Given the description of an element on the screen output the (x, y) to click on. 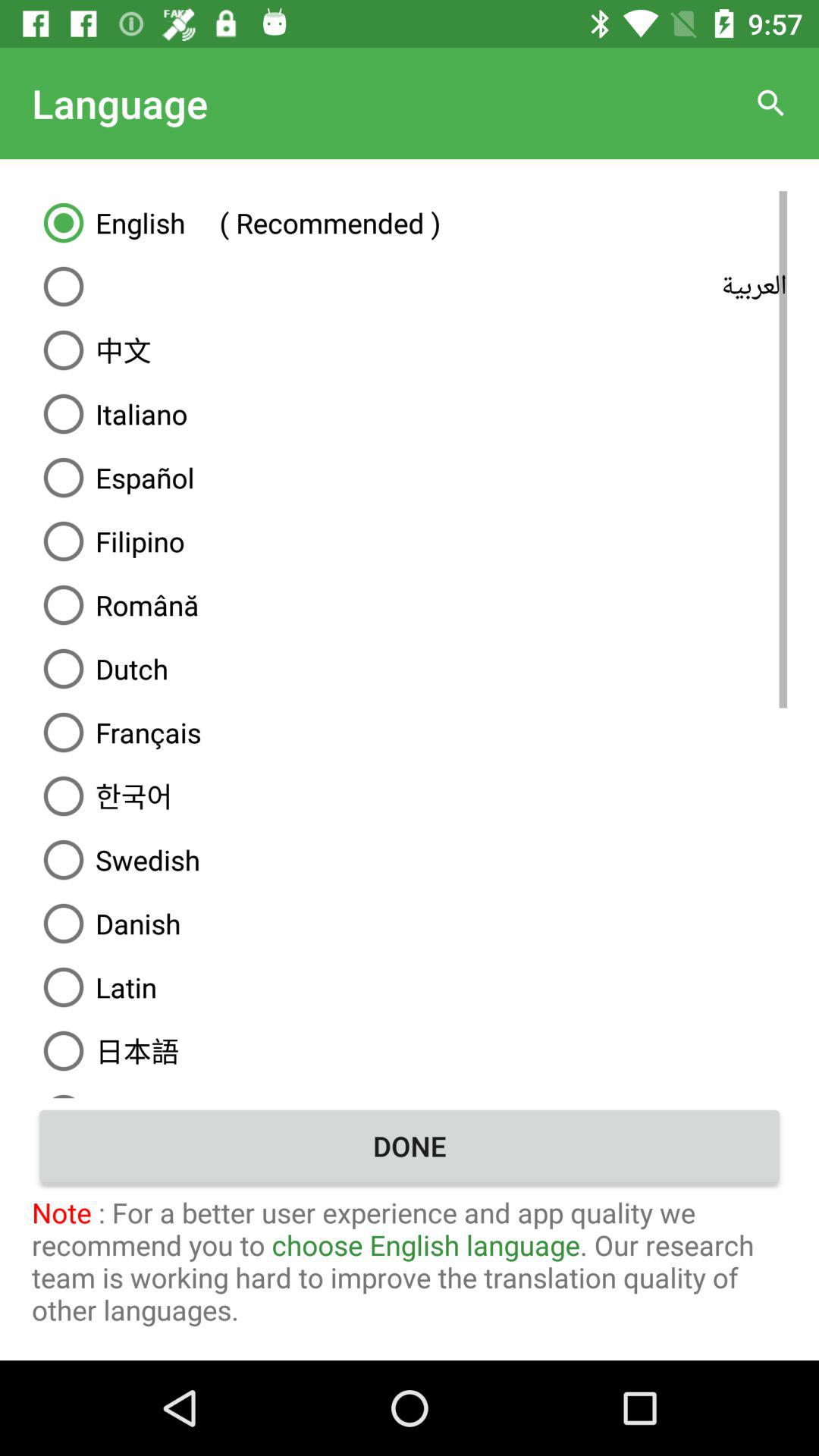
tap the item above the done (409, 1090)
